Given the description of an element on the screen output the (x, y) to click on. 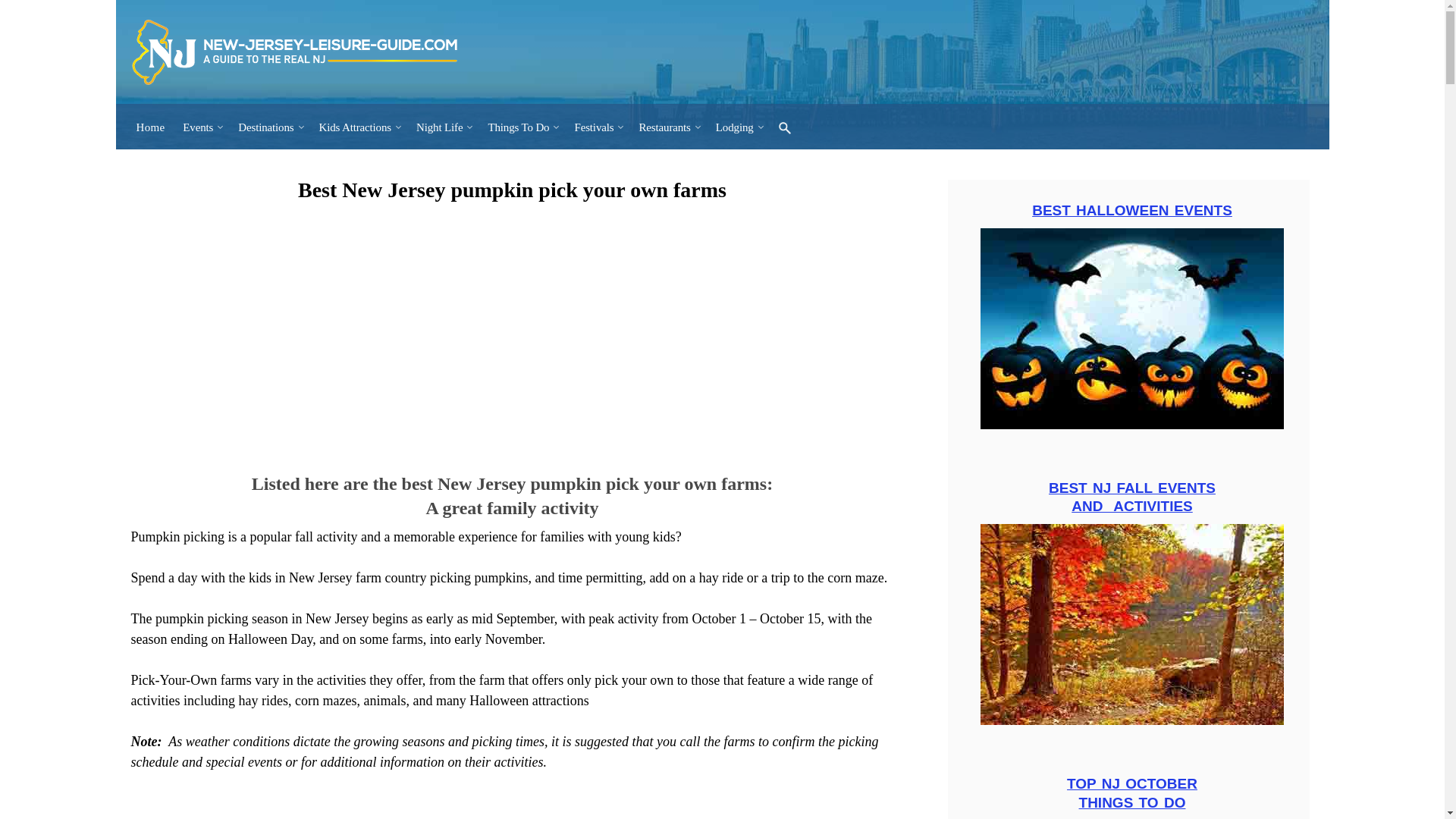
Go to The Best New Jersey Halloween Events and Shows (1131, 424)
Home (151, 127)
NJ Fall Events, Activities (1131, 624)
Halloween Events (1131, 328)
